Given the description of an element on the screen output the (x, y) to click on. 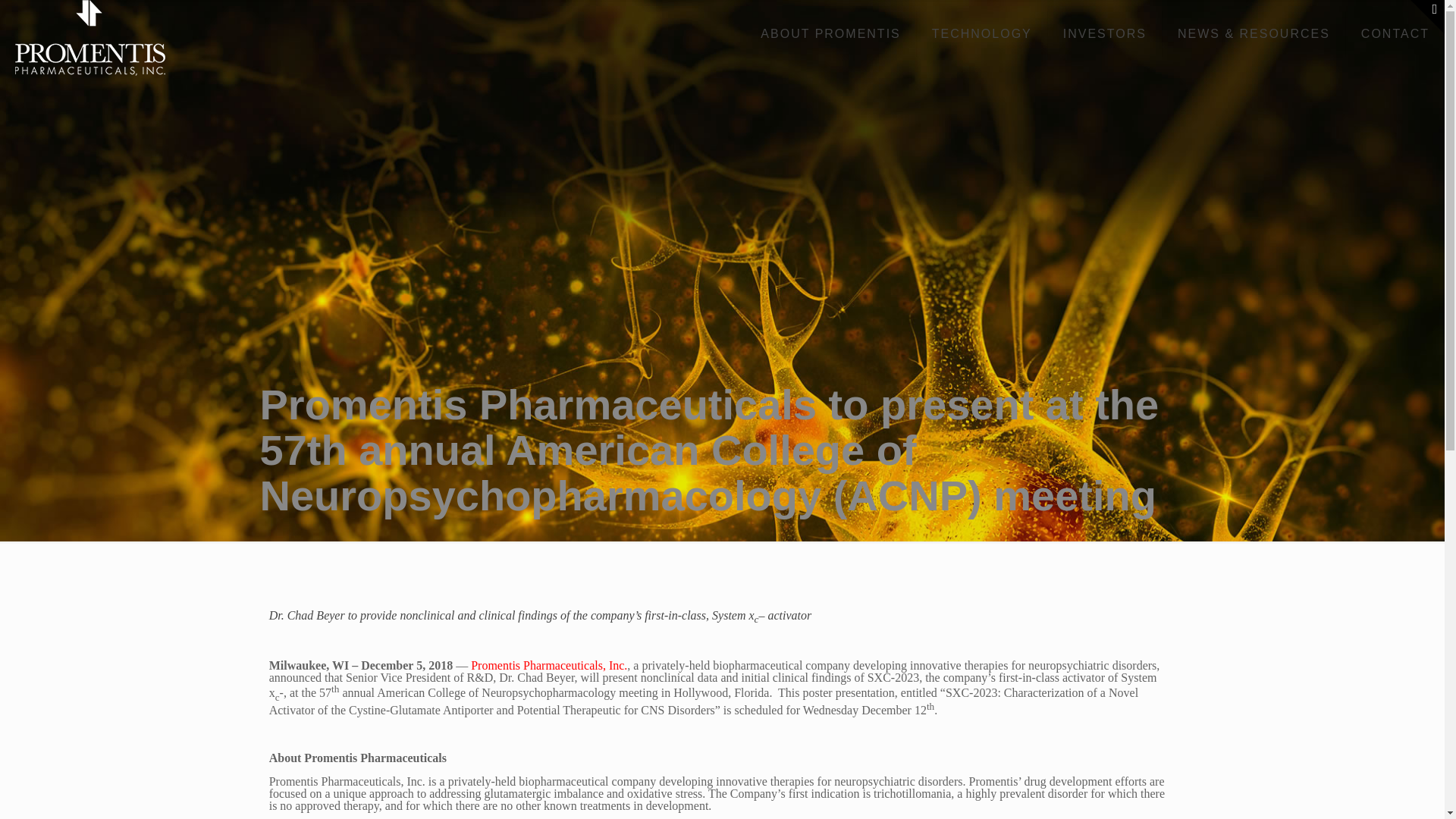
Promentis Pharmaceuticals, Inc. (548, 665)
ABOUT PROMENTIS (830, 33)
Promentis Pharmaceuticals, Inc. (89, 38)
TECHNOLOGY (982, 33)
INVESTORS (1104, 33)
